Given the description of an element on the screen output the (x, y) to click on. 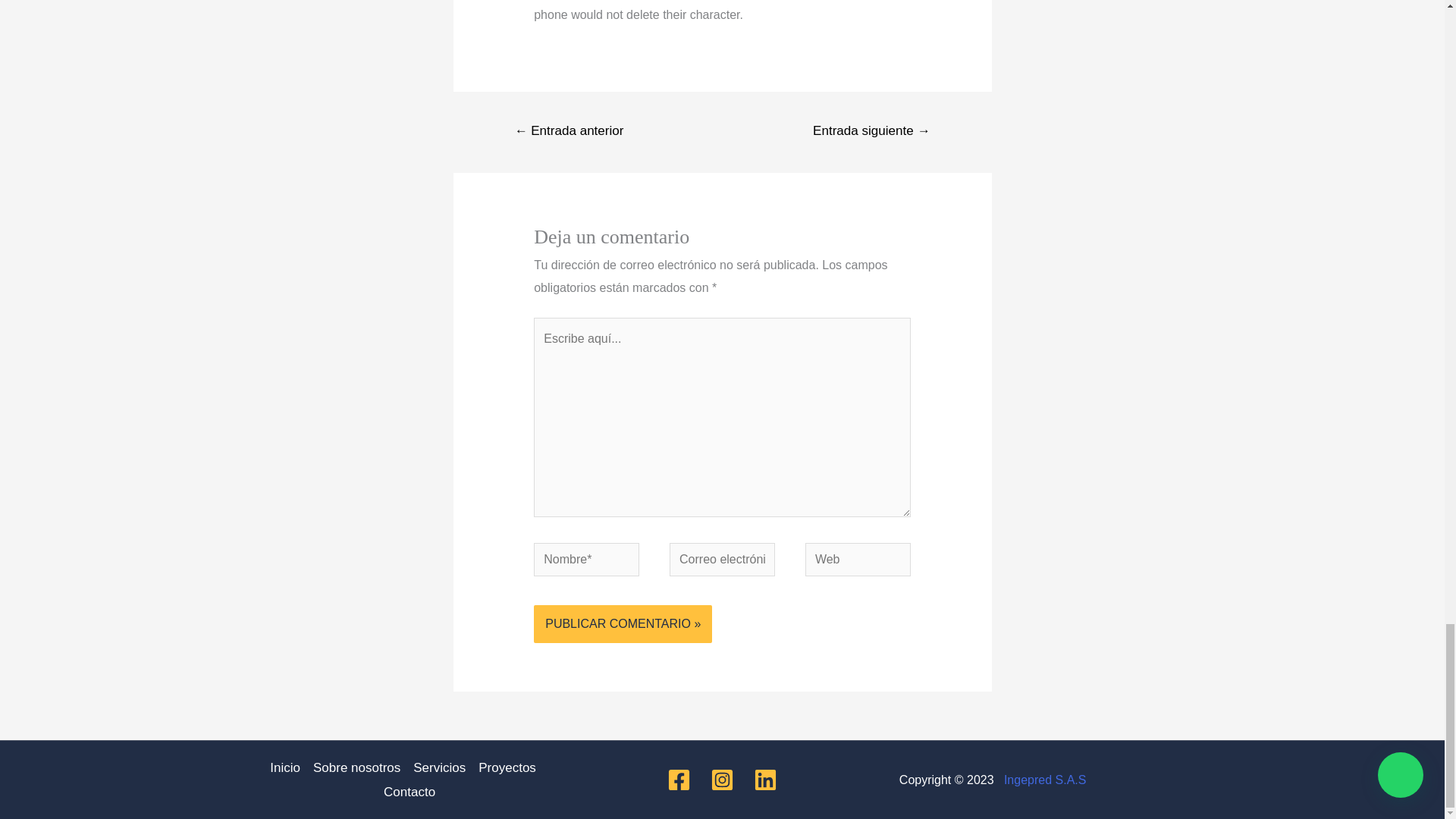
Servicios (439, 767)
Inicio (287, 767)
Proyectos (507, 767)
Contacto (406, 792)
Sobre nosotros (355, 767)
